Given the description of an element on the screen output the (x, y) to click on. 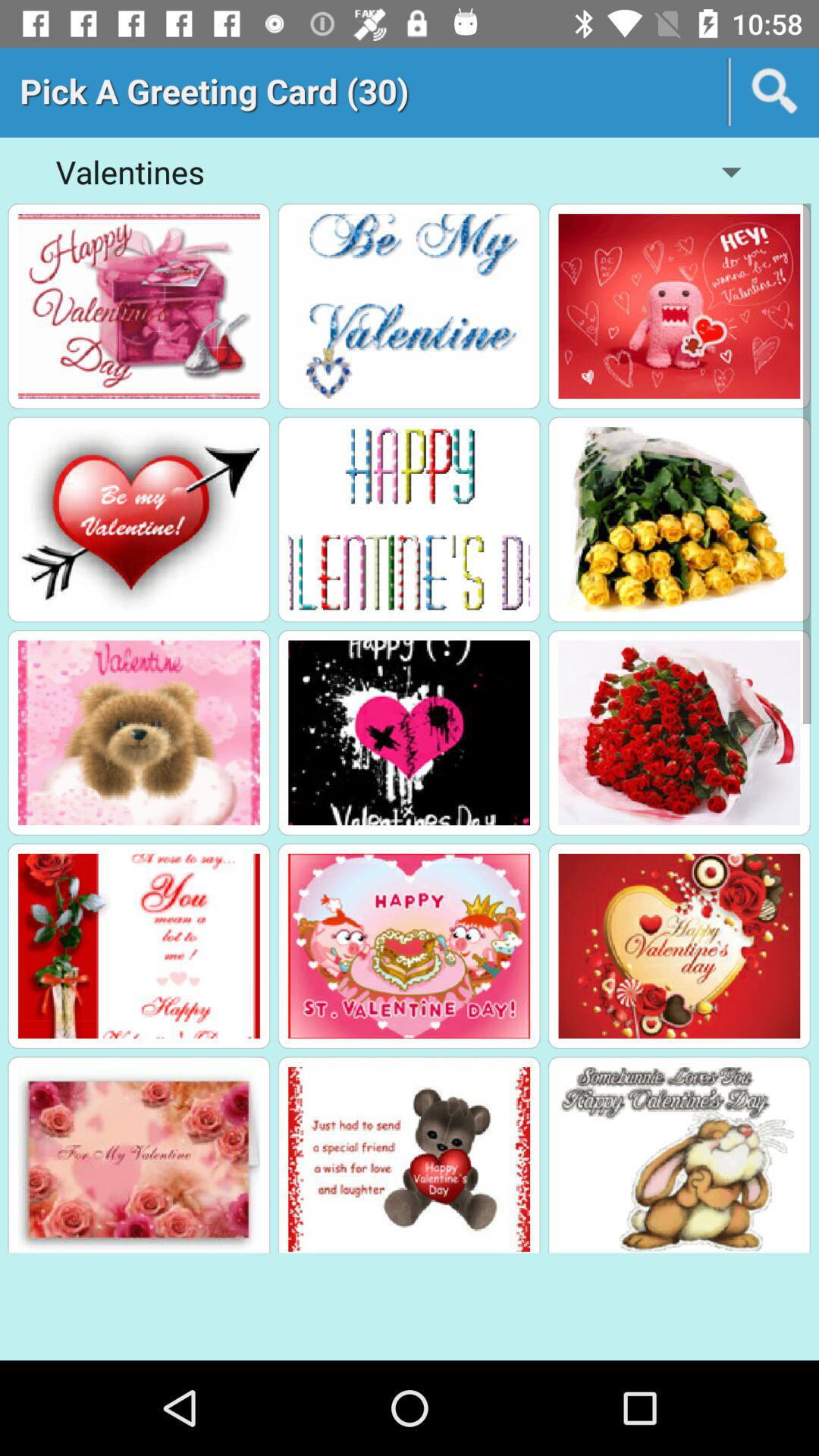
select greeting card (409, 945)
